Given the description of an element on the screen output the (x, y) to click on. 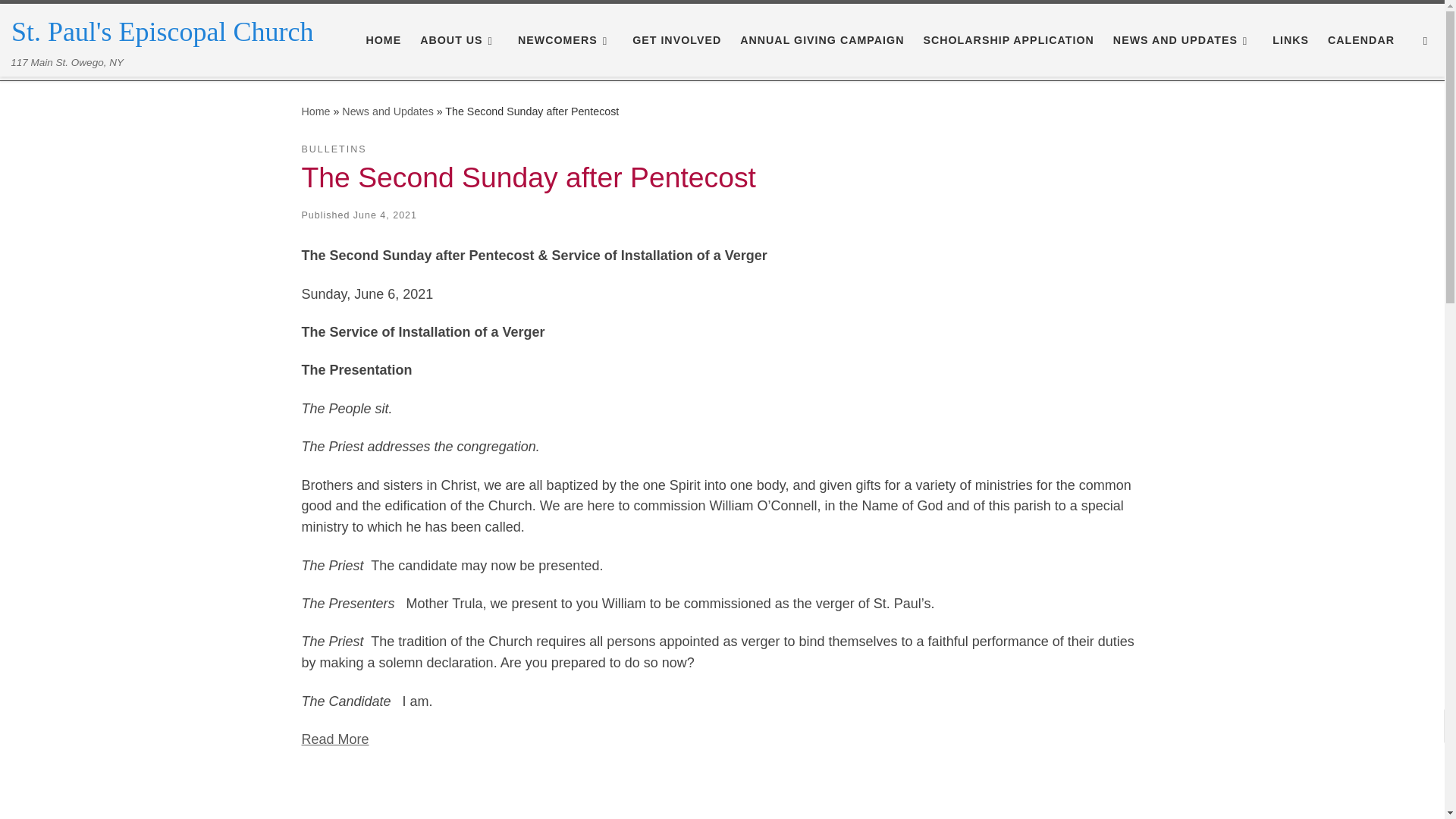
St. Paul's Episcopal Church (162, 31)
ABOUT US (458, 40)
NEWCOMERS (565, 40)
ANNUAL GIVING CAMPAIGN (821, 40)
CALENDAR (1361, 40)
11:51 am (384, 214)
View all posts in Bulletins (333, 149)
GET INVOLVED (676, 40)
SCHOLARSHIP APPLICATION (1008, 40)
HOME (383, 40)
Skip to content (60, 20)
NEWS AND UPDATES (1183, 40)
LINKS (1290, 40)
